Given the description of an element on the screen output the (x, y) to click on. 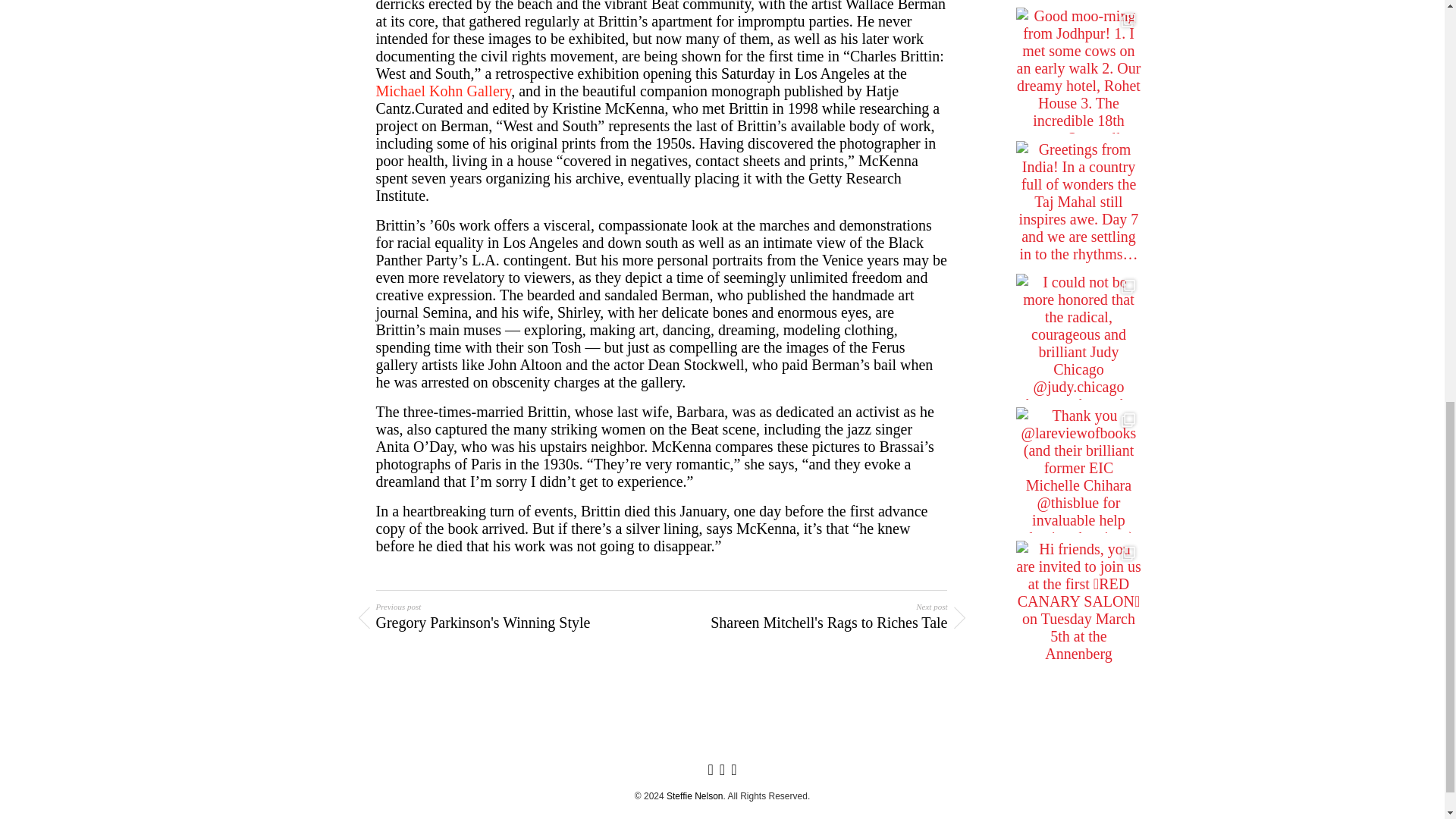
Michael Kohn Gallery (812, 617)
Steffie Nelson (509, 617)
